Given the description of an element on the screen output the (x, y) to click on. 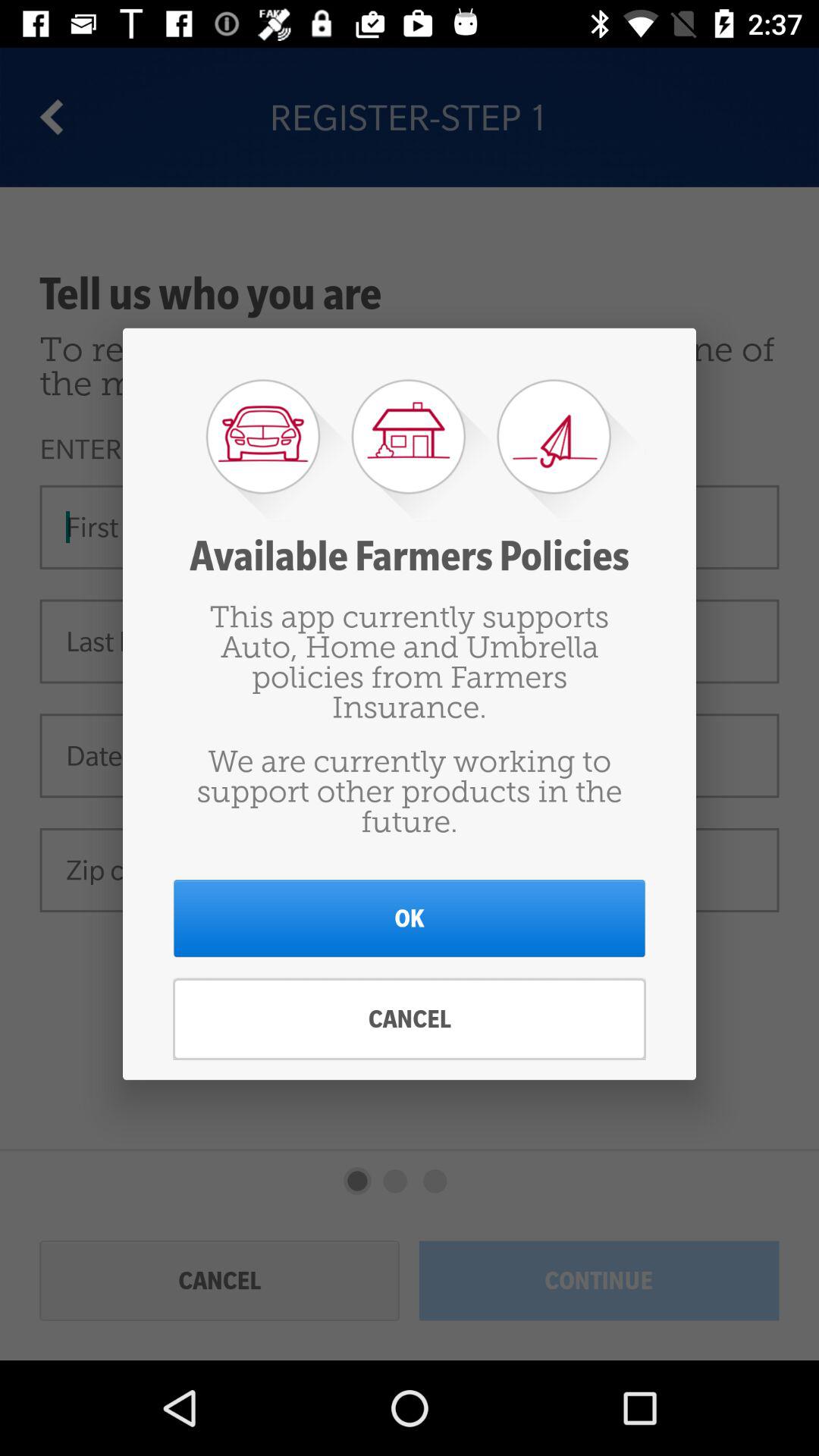
scroll until cancel icon (409, 1019)
